Given the description of an element on the screen output the (x, y) to click on. 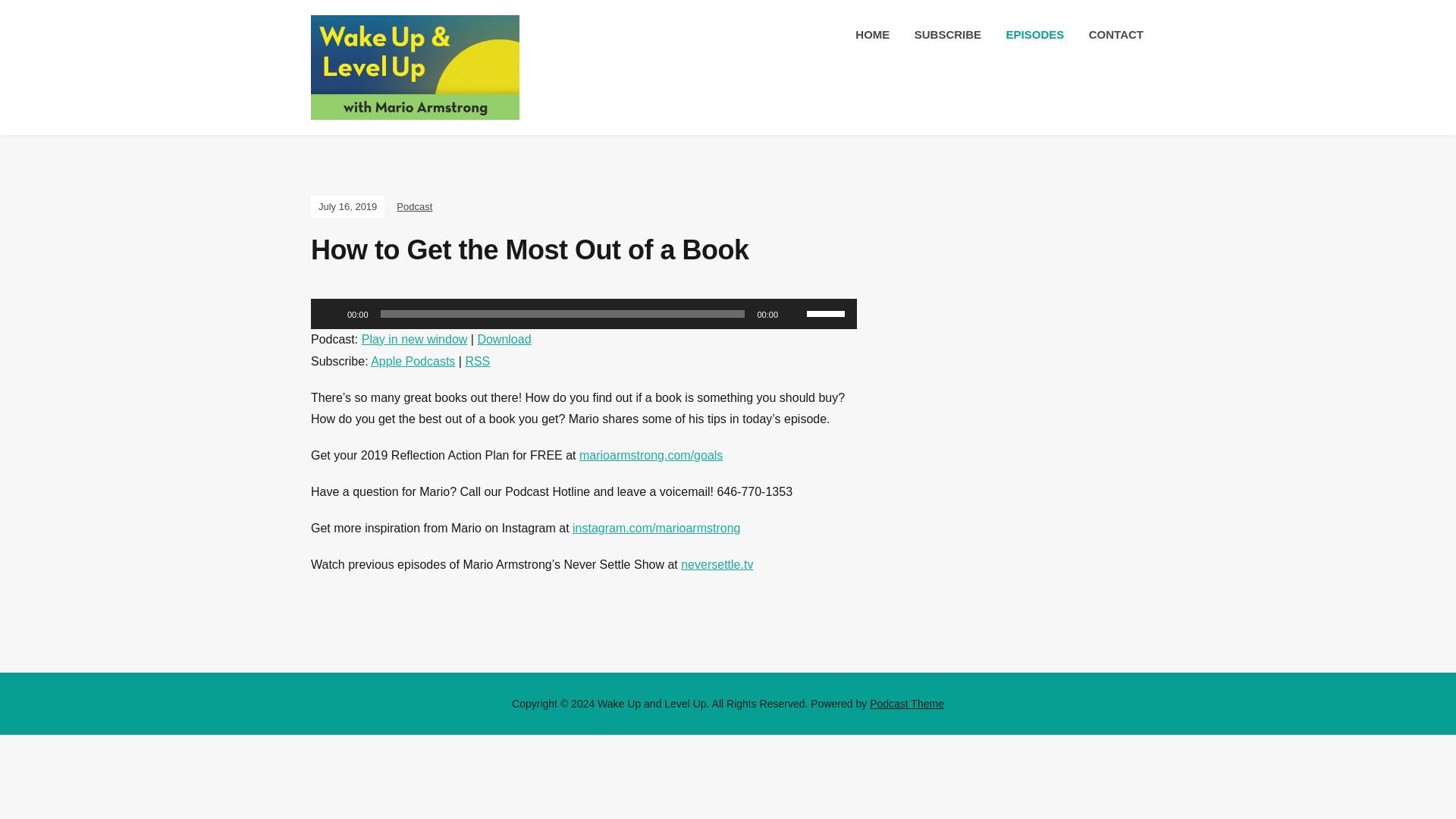
Subscribe on Apple Podcasts (412, 360)
Podcast Theme (906, 703)
Download (504, 338)
EPISODES (1034, 34)
Play in new window (414, 338)
SUBSCRIBE (947, 34)
Play in new window (414, 338)
Download (504, 338)
Mute (794, 313)
Subscribe via RSS (476, 360)
